Given the description of an element on the screen output the (x, y) to click on. 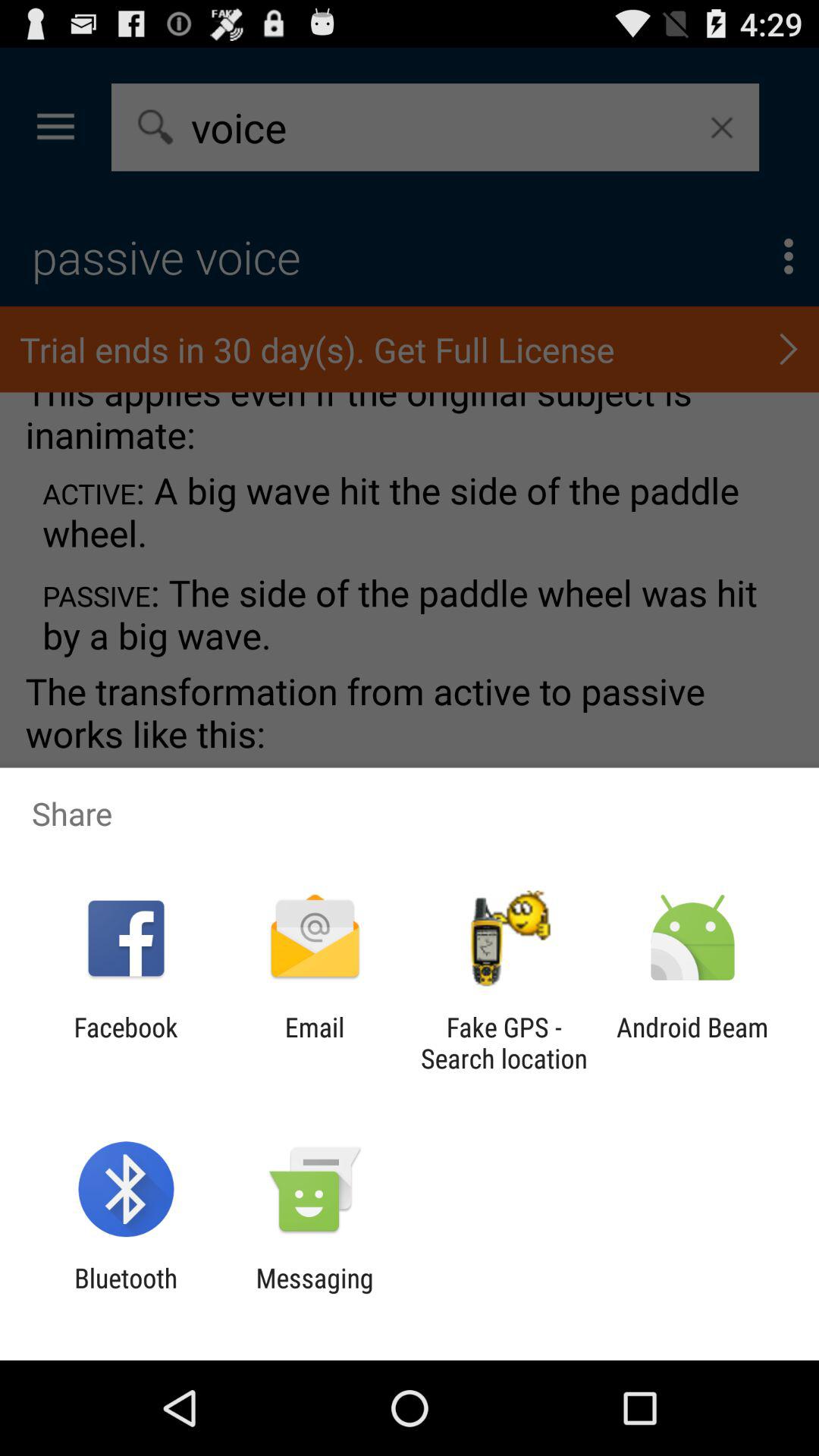
tap the item next to the email icon (125, 1042)
